Given the description of an element on the screen output the (x, y) to click on. 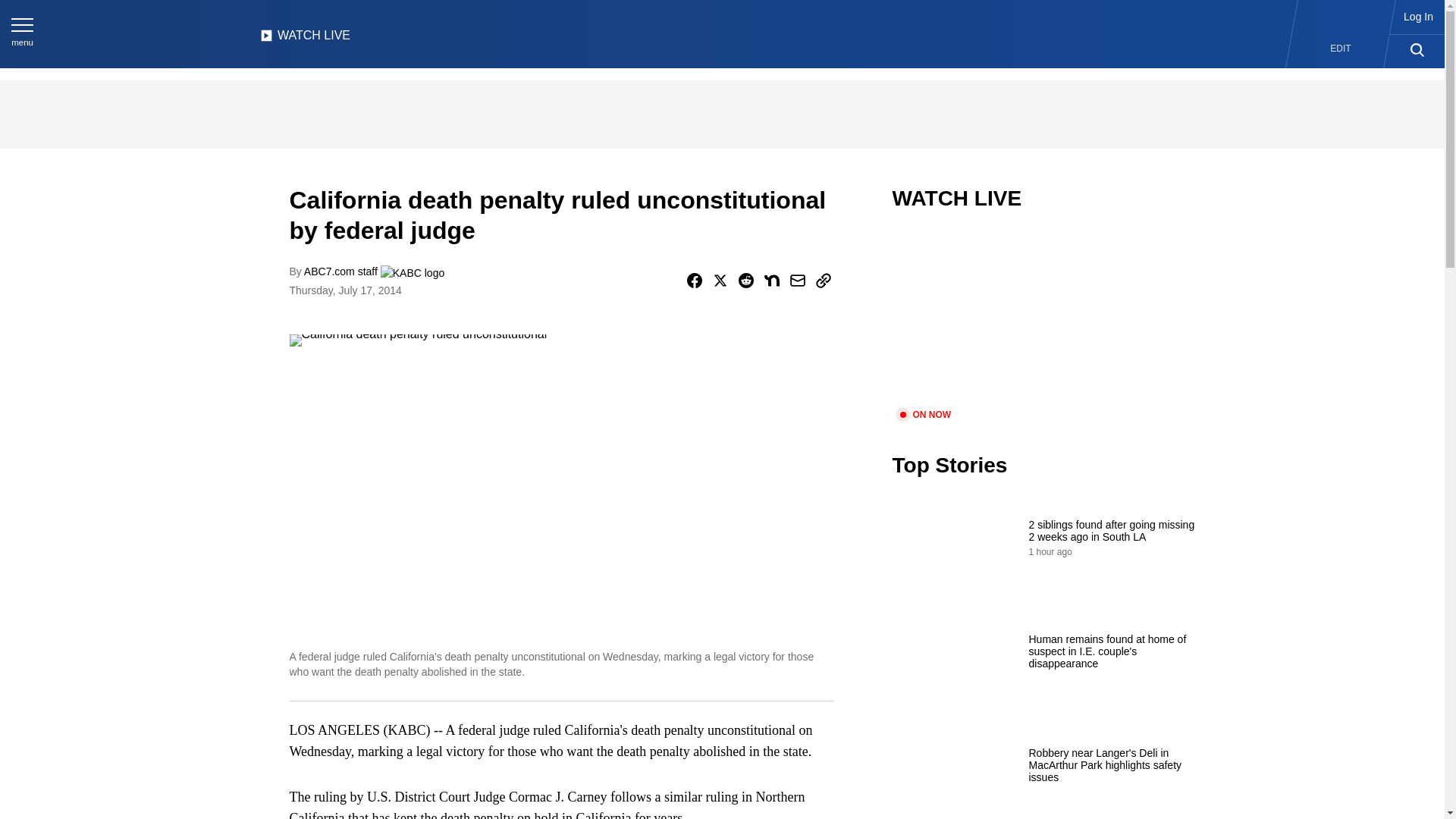
video.title (1043, 318)
EDIT (1340, 48)
WATCH LIVE (305, 39)
